Given the description of an element on the screen output the (x, y) to click on. 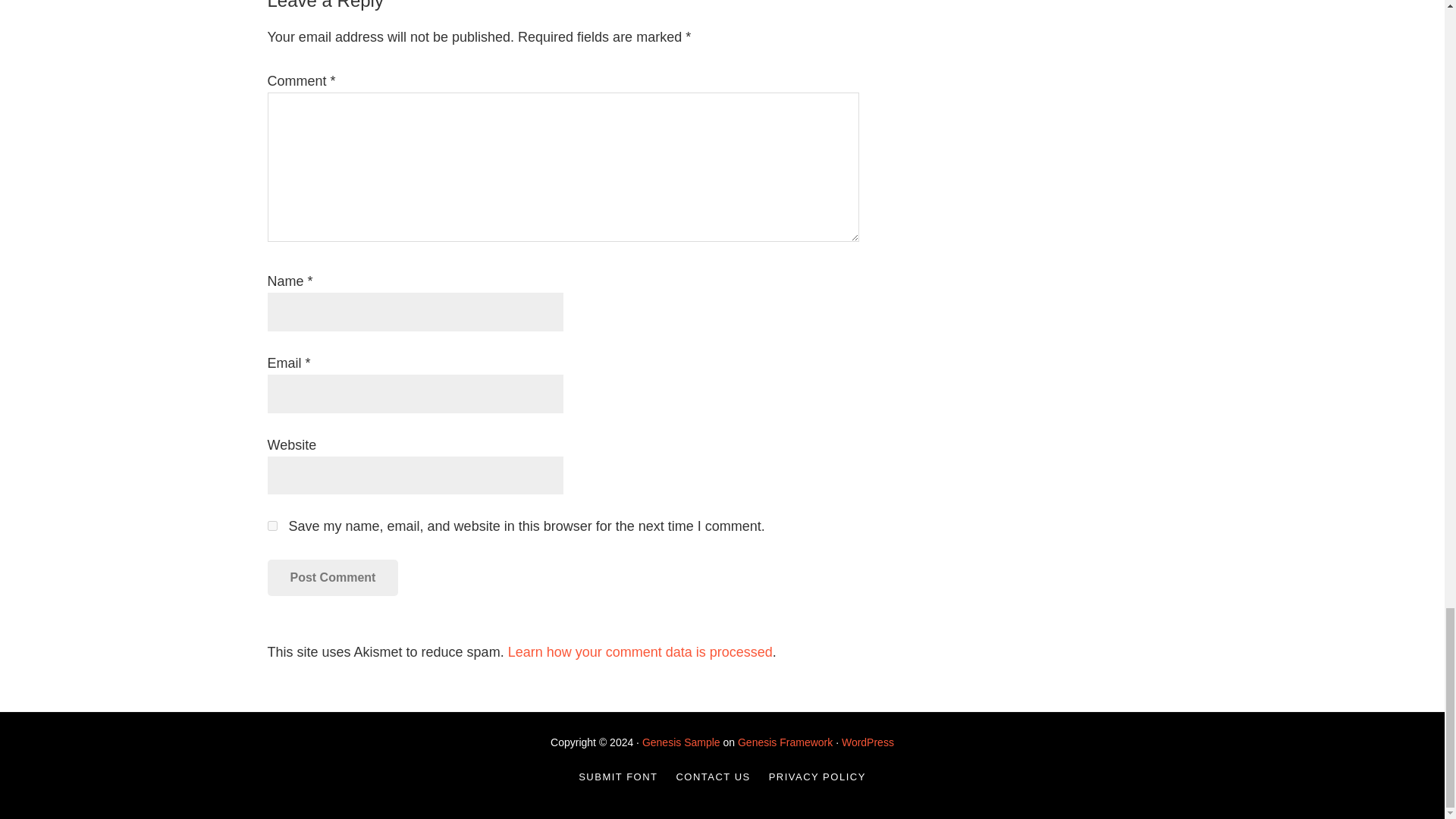
Post Comment (331, 577)
yes (271, 525)
Post Comment (331, 577)
Learn how your comment data is processed (640, 652)
